Given the description of an element on the screen output the (x, y) to click on. 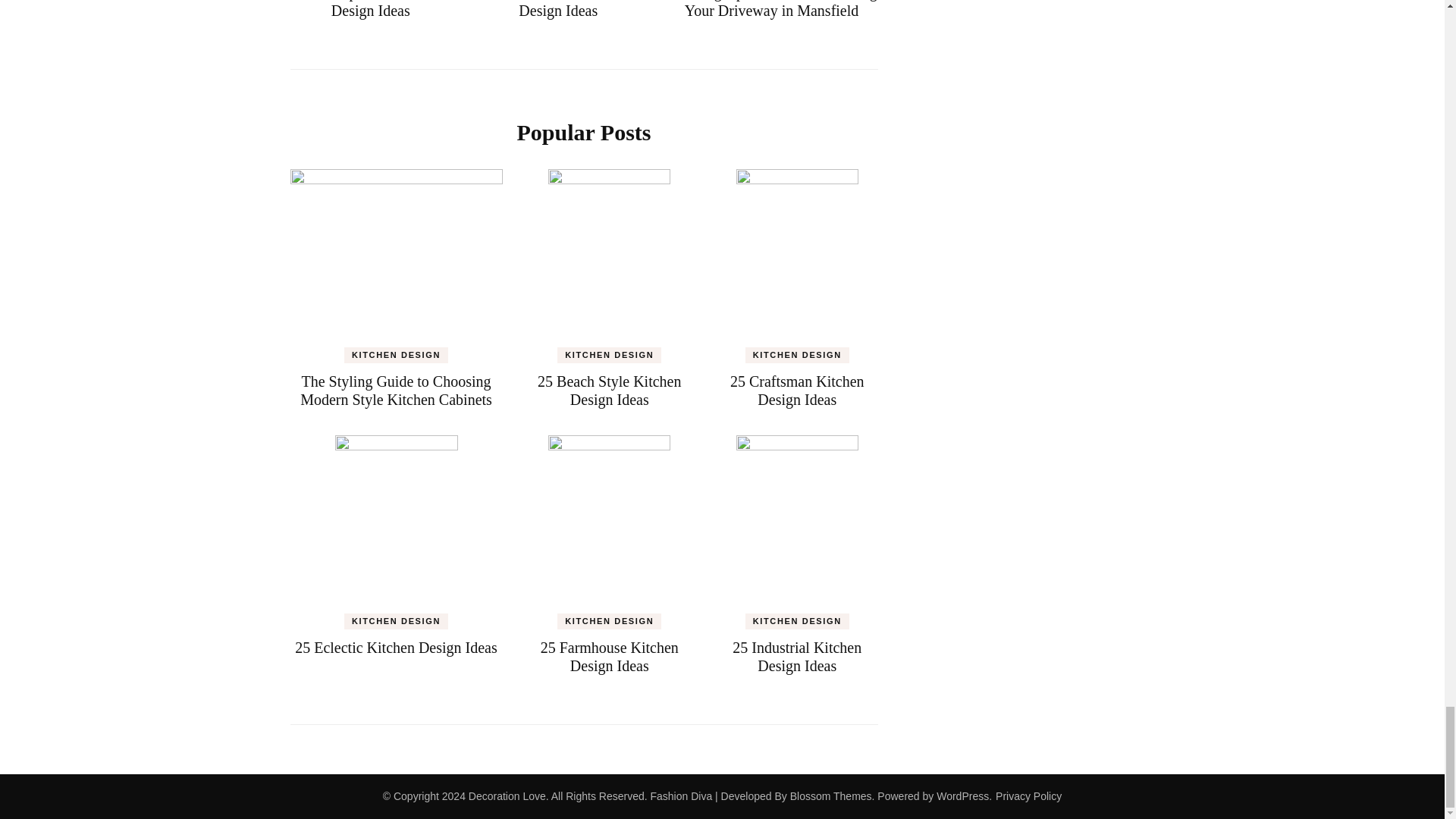
25 Scandinavian Exterior Design Ideas (557, 9)
Amazing Options for Modernizing Your Driveway in Mansfield (770, 9)
25 Tropical Exterior Design Ideas (370, 9)
